Given the description of an element on the screen output the (x, y) to click on. 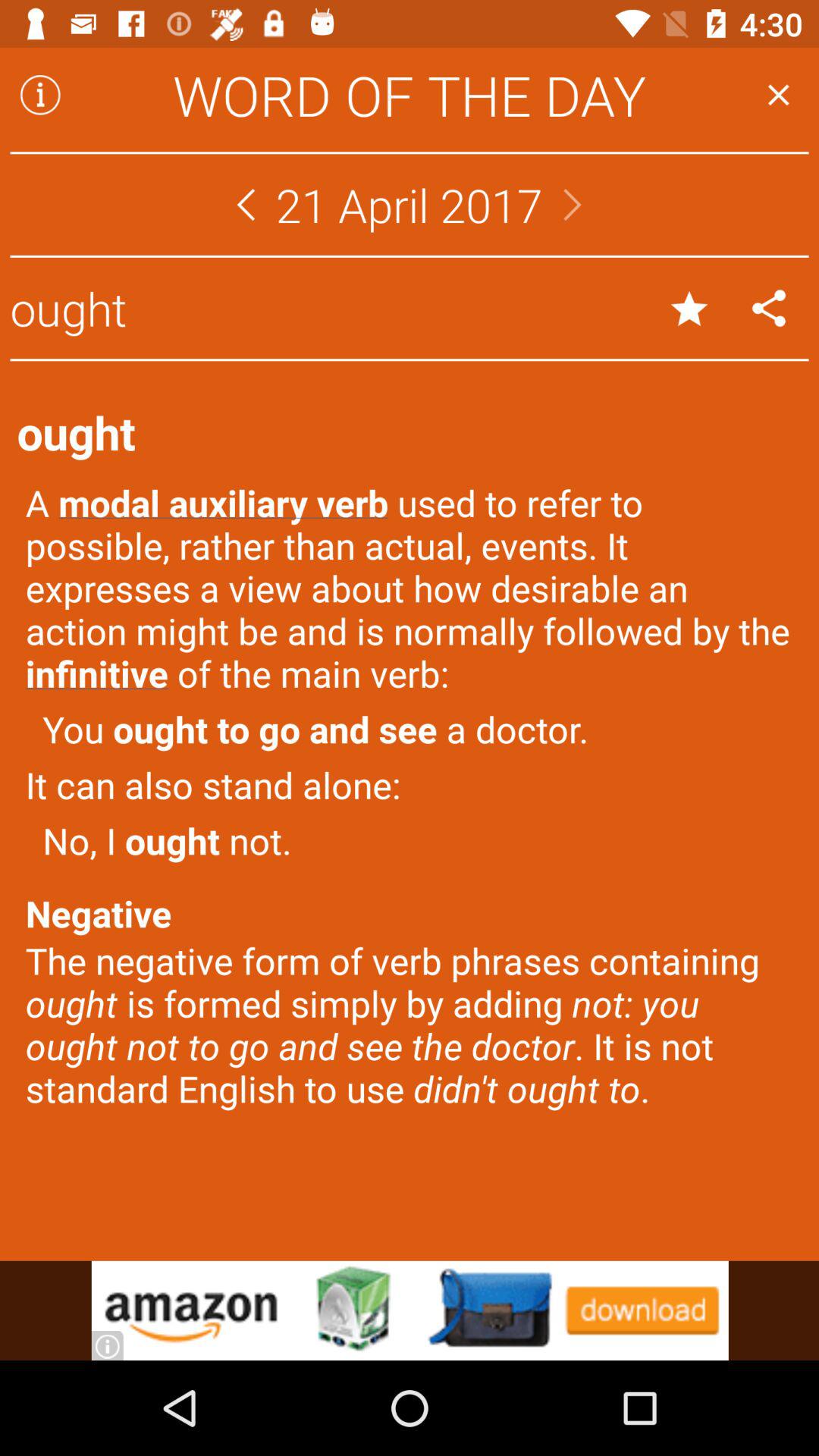
rate this app (689, 307)
